Given the description of an element on the screen output the (x, y) to click on. 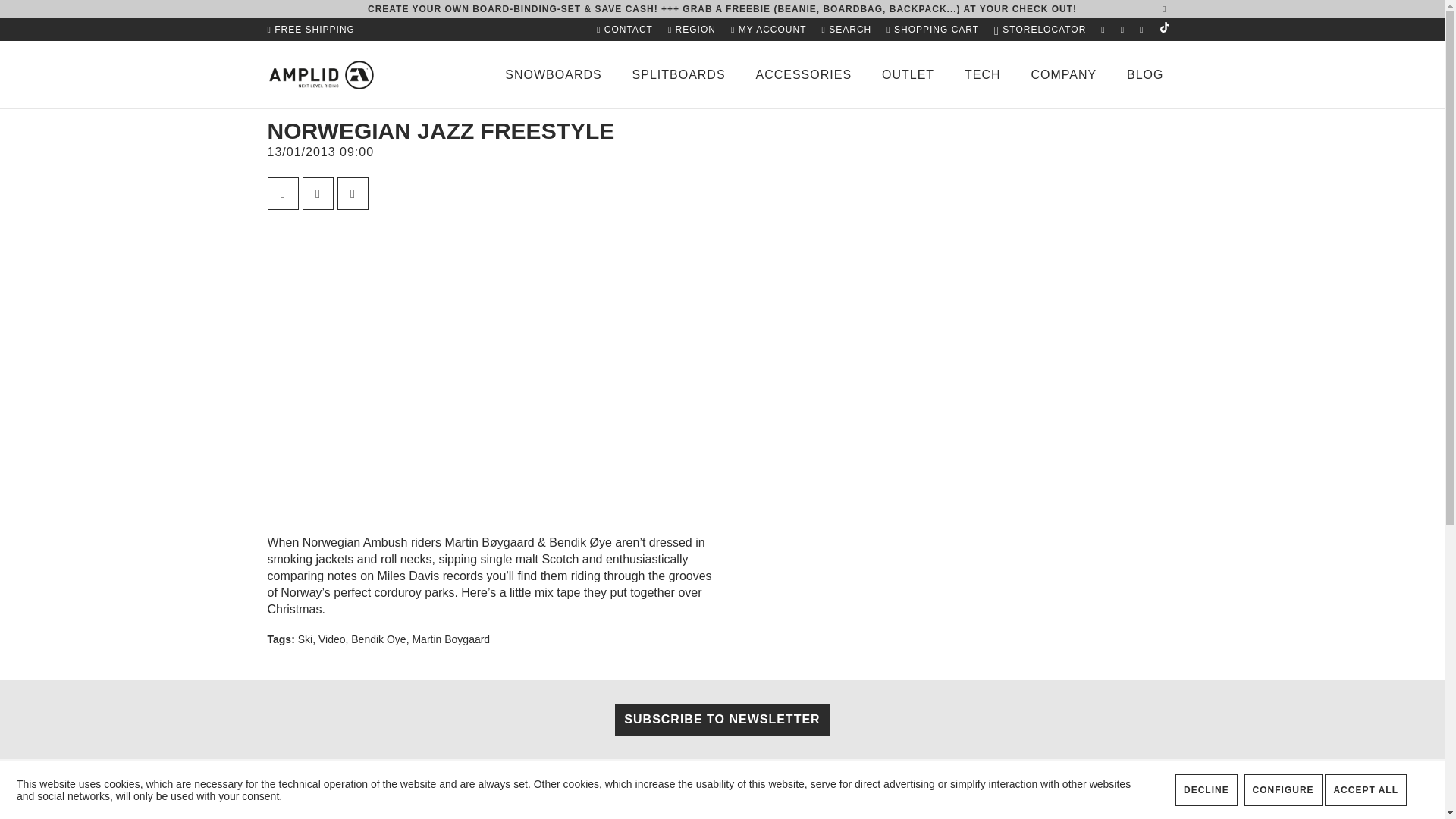
OUTLET (907, 74)
SNOWBOARDS (553, 74)
Region (692, 29)
Shopping cart (933, 29)
MY ACCOUNT (768, 29)
SHOPPING CART (933, 29)
ACCESSORIES (802, 74)
SNOWBOARDS (553, 74)
BLOG (1144, 74)
SEARCH (846, 29)
